Given the description of an element on the screen output the (x, y) to click on. 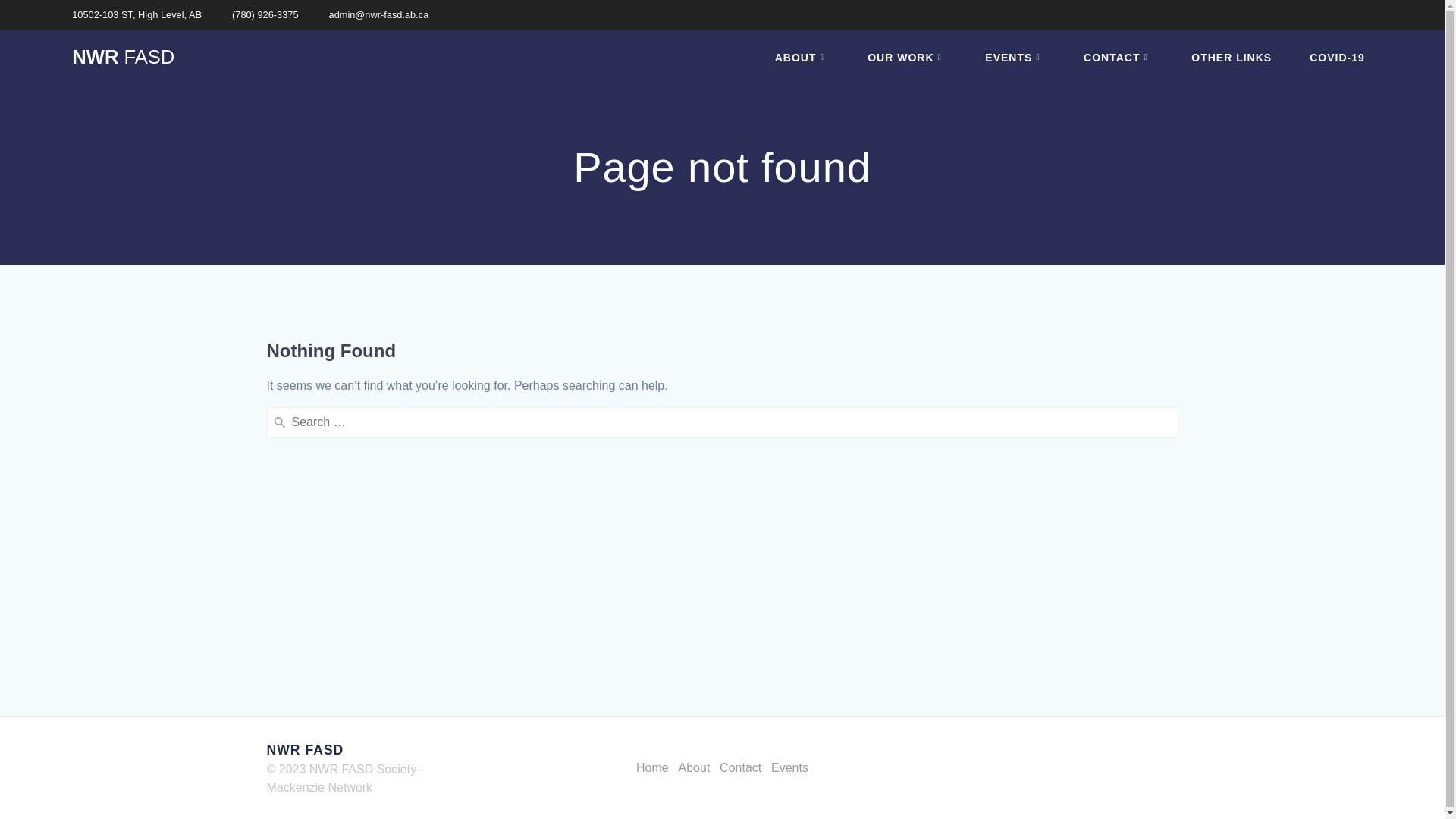
OTHER LINKS Element type: text (1231, 57)
Events Element type: text (789, 768)
CONTACT Element type: text (1118, 57)
About Element type: text (694, 768)
ABOUT Element type: text (802, 57)
Home Element type: text (652, 768)
COVID-19 Element type: text (1337, 57)
OUR WORK Element type: text (907, 57)
EVENTS Element type: text (1014, 57)
NWR FASD Element type: text (123, 57)
Contact Element type: text (740, 768)
